Given the description of an element on the screen output the (x, y) to click on. 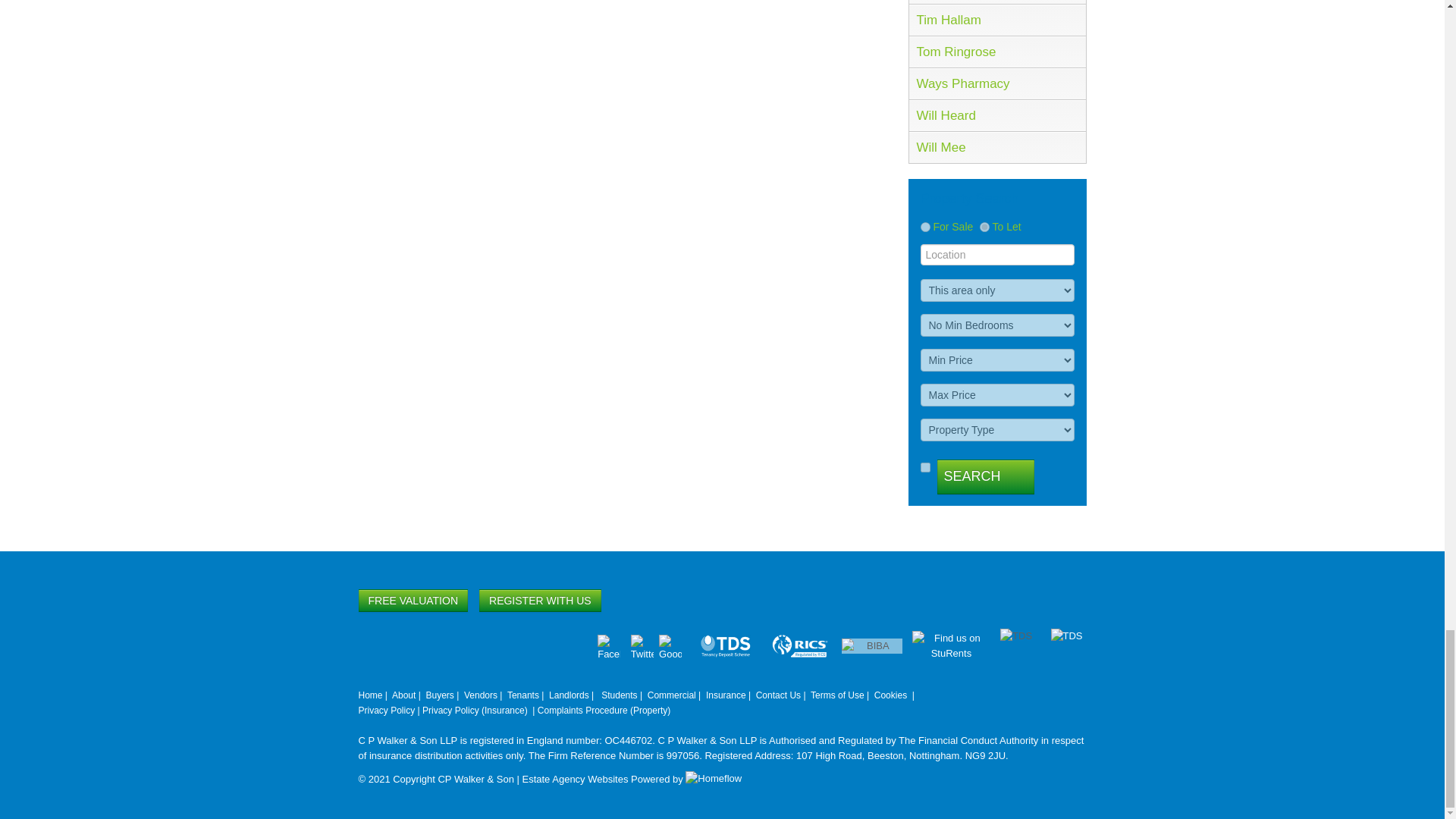
Like our Facebook page (608, 644)
Buyers (438, 695)
lettings (984, 226)
About (402, 695)
Twitter (641, 644)
sales (925, 226)
Google Plus (670, 644)
Home page (369, 695)
all (925, 467)
Vendors (480, 695)
